Given the description of an element on the screen output the (x, y) to click on. 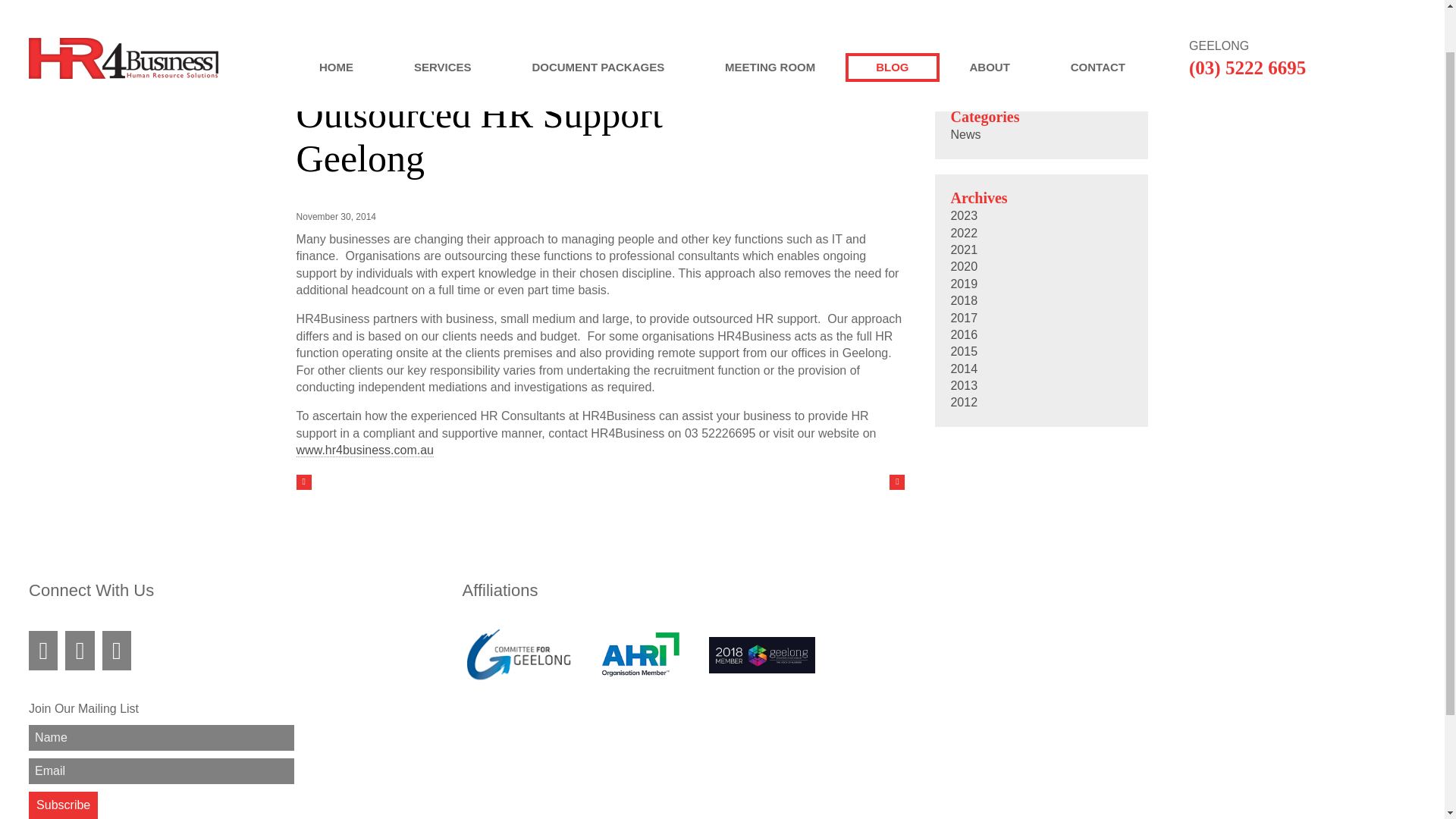
SERVICES (443, 15)
HOME (336, 15)
DOCUMENT PACKAGES (597, 15)
